Given the description of an element on the screen output the (x, y) to click on. 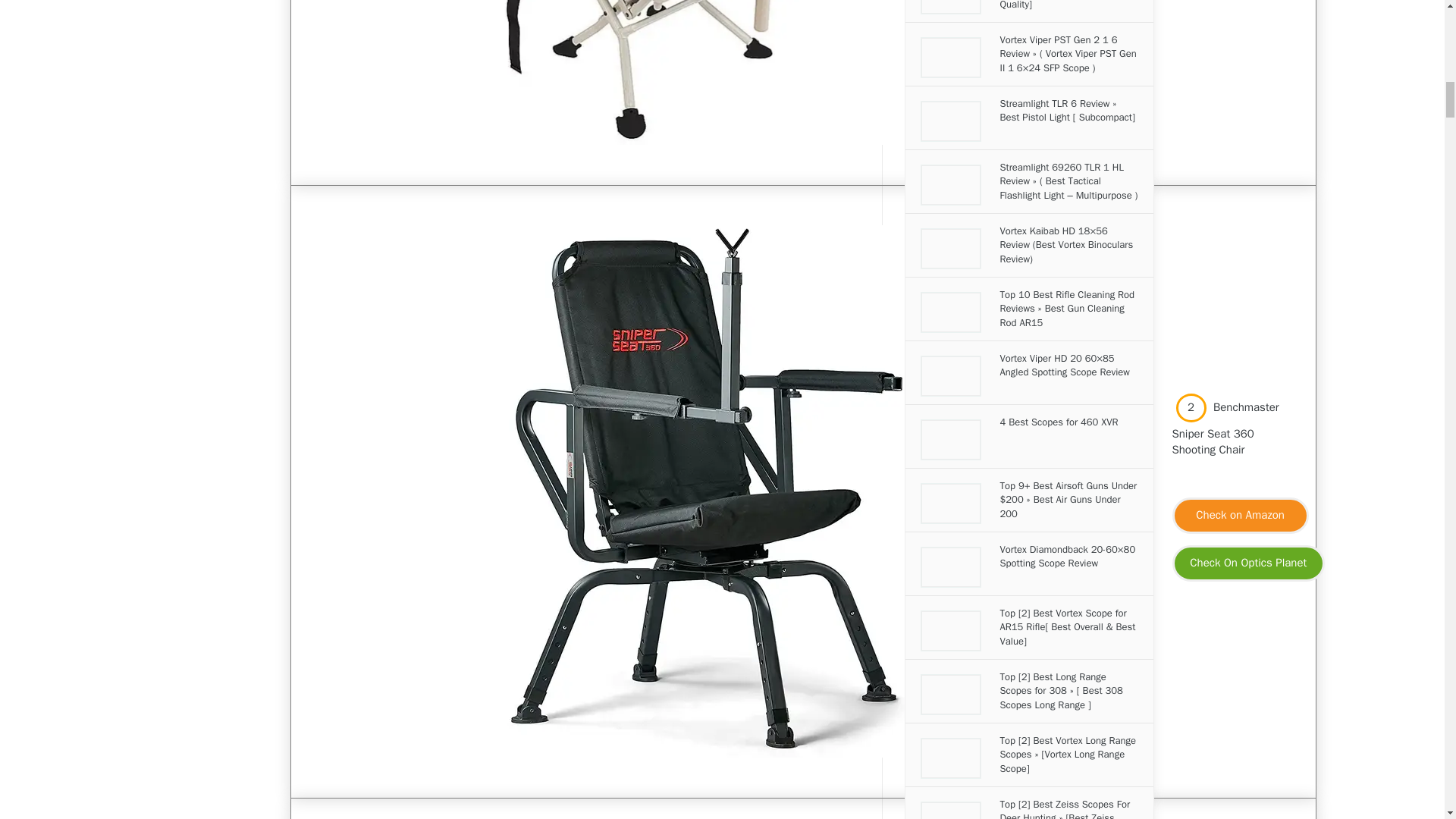
Check On Optics Planet (1247, 562)
Check on Amazon (1240, 515)
Check on Amazon (1239, 514)
Check On Optics Planet (1248, 563)
